Given the description of an element on the screen output the (x, y) to click on. 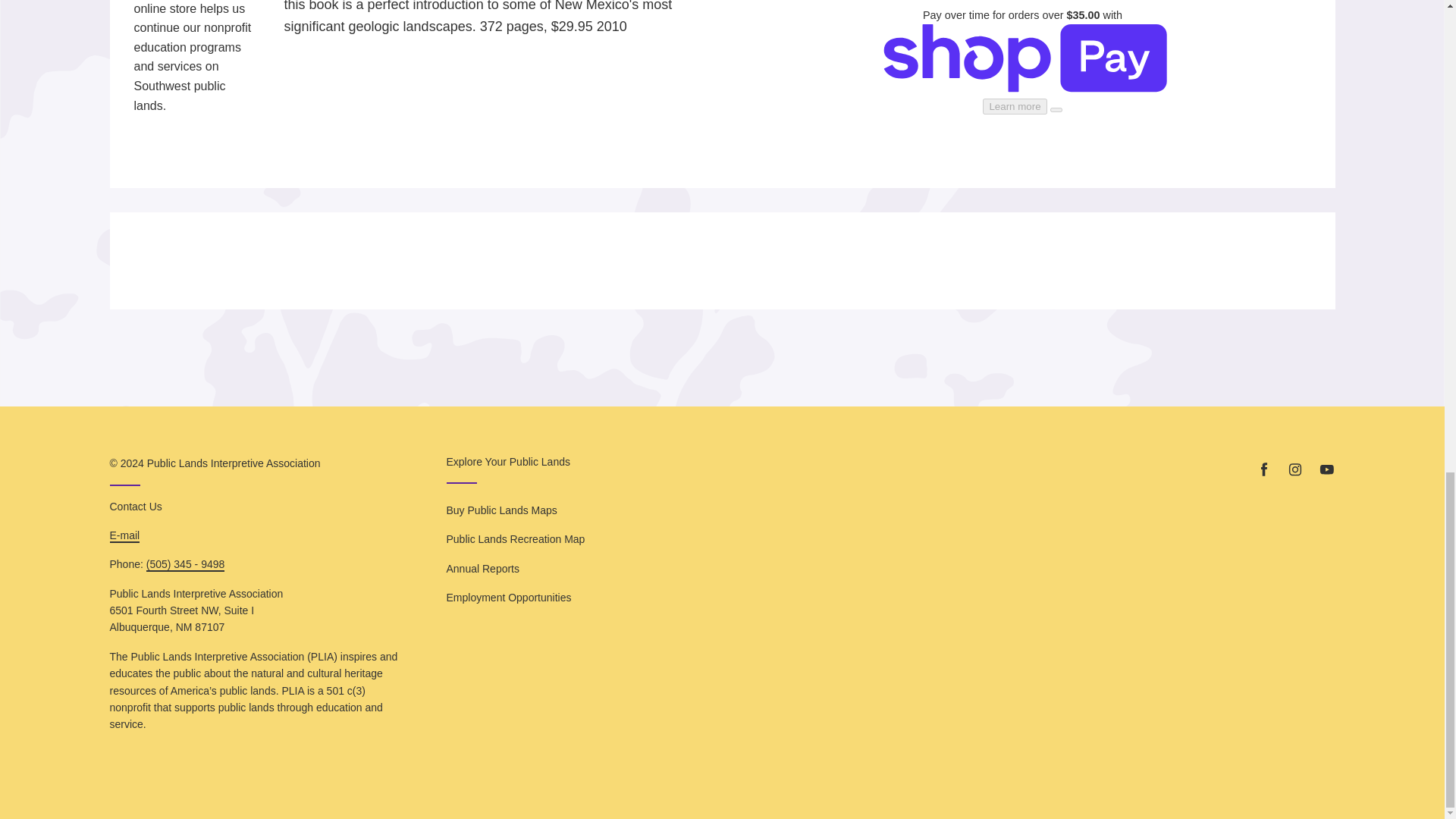
Public Lands Interpretive Association on Instagram (1295, 469)
Public Lands Interpretive Association on YouTube (1326, 469)
Public Lands Interpretive Association on Facebook (1263, 469)
E-Mail publiclands.org (124, 535)
